Given the description of an element on the screen output the (x, y) to click on. 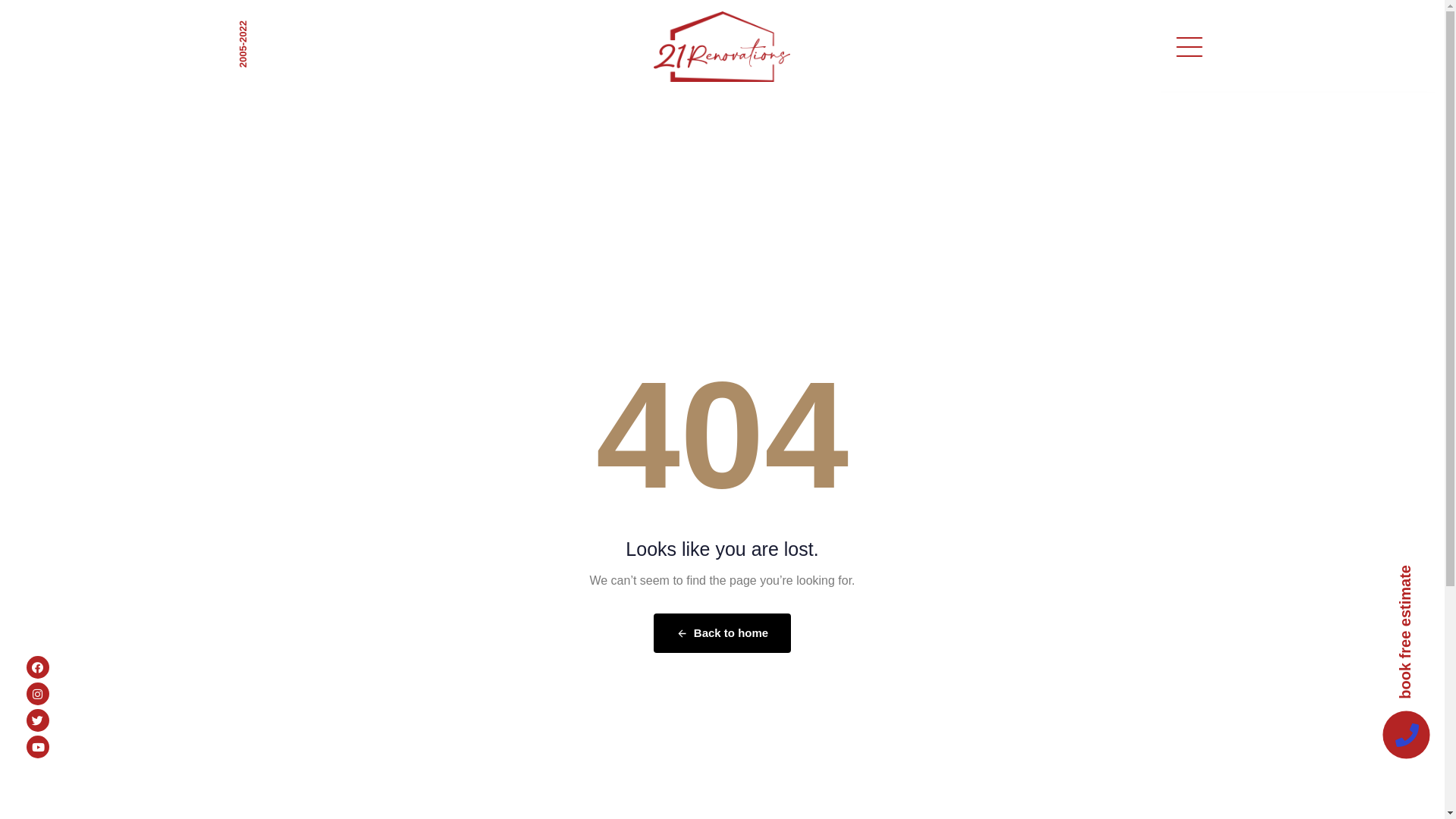
book free estimate Element type: text (1404, 631)
Back to home Element type: text (721, 632)
